Given the description of an element on the screen output the (x, y) to click on. 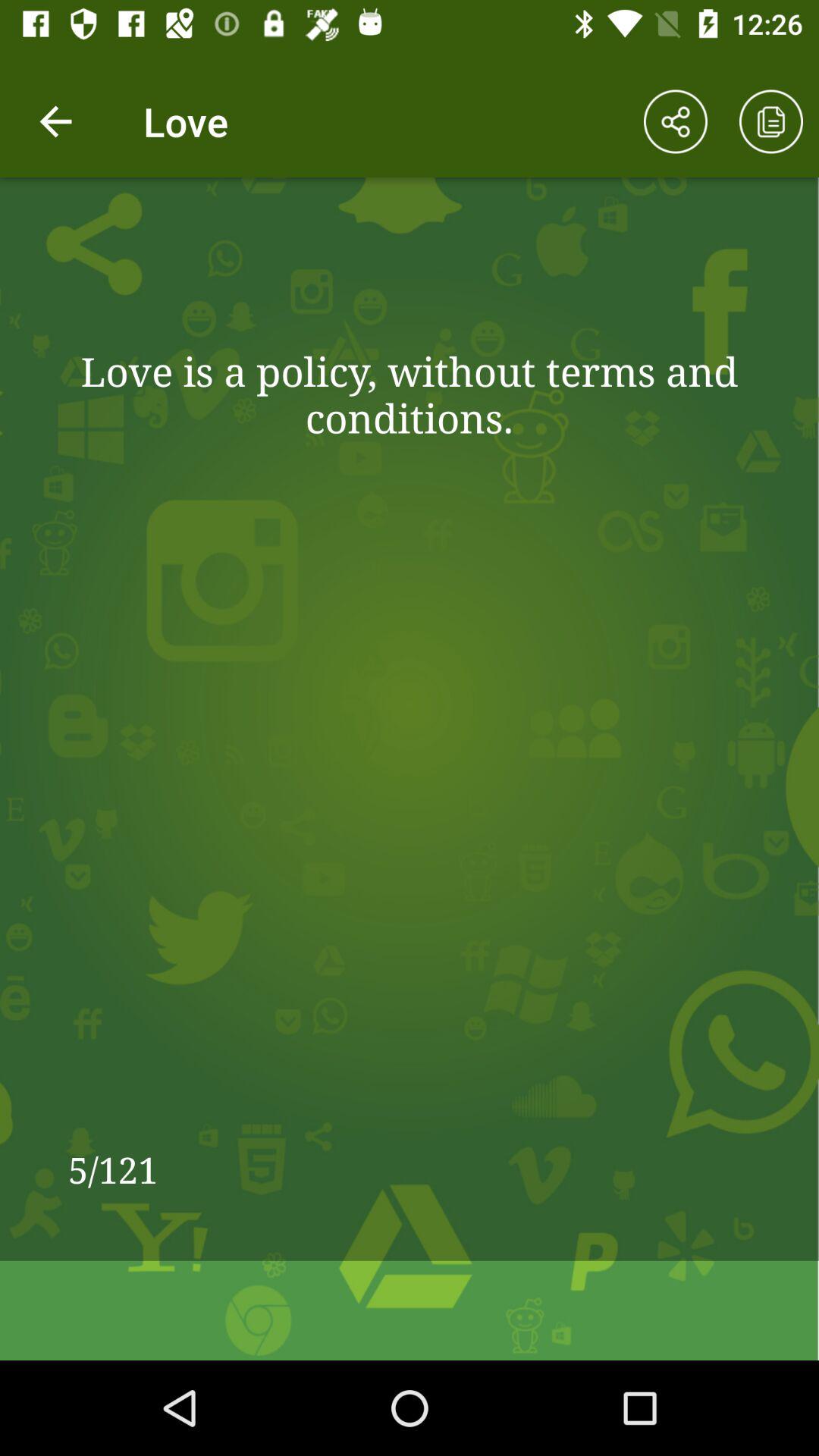
copy (771, 121)
